Given the description of an element on the screen output the (x, y) to click on. 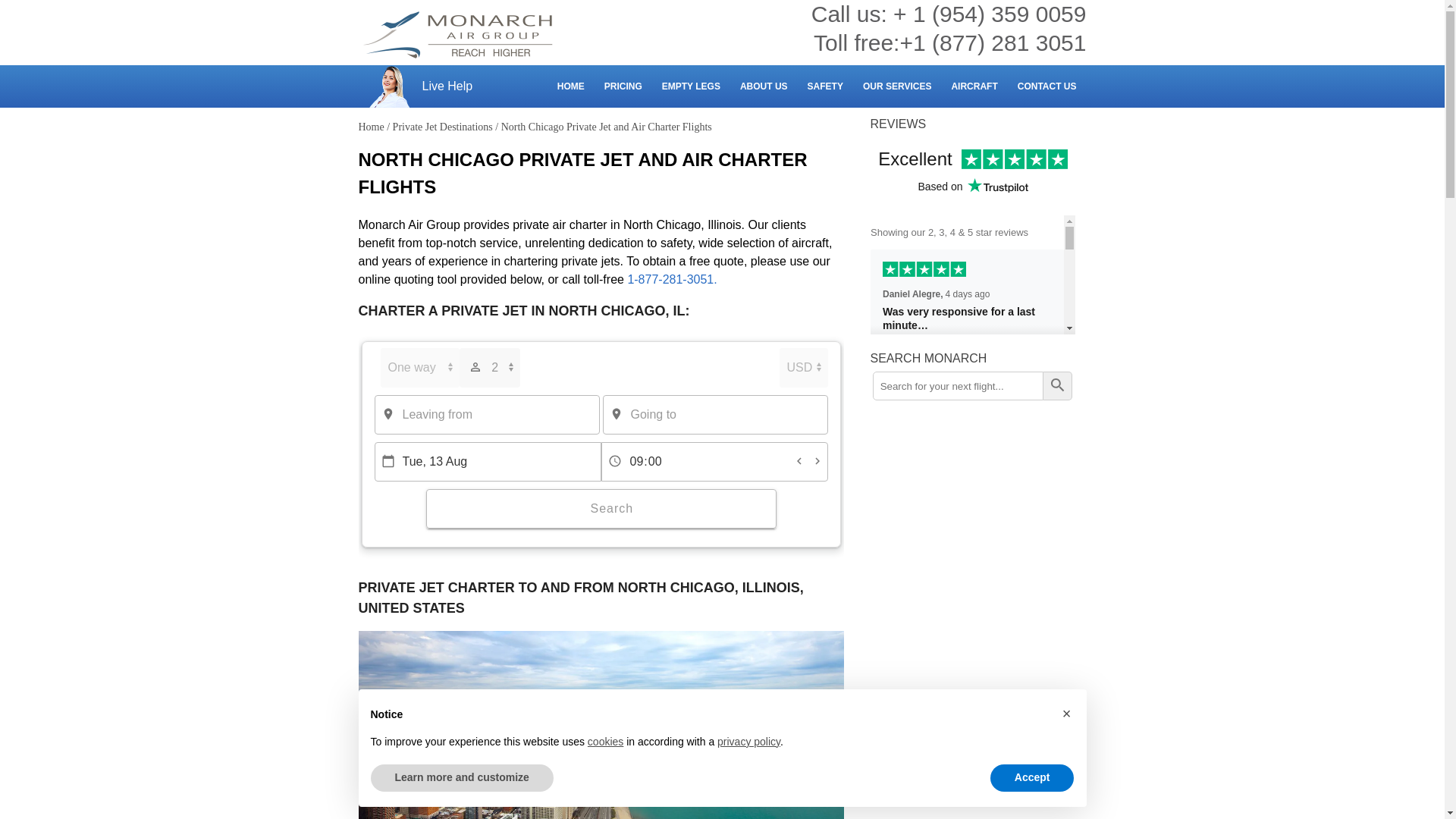
Private Jet and Air Charter Operator - Monarch Air Group (458, 34)
Search (1058, 385)
09:00 (713, 461)
Tue, 13 Aug (487, 461)
OUR SERVICES (896, 85)
HOME (570, 85)
AIRCRAFT (973, 85)
SAFETY (825, 85)
 2   (489, 367)
Home (371, 126)
